Given the description of an element on the screen output the (x, y) to click on. 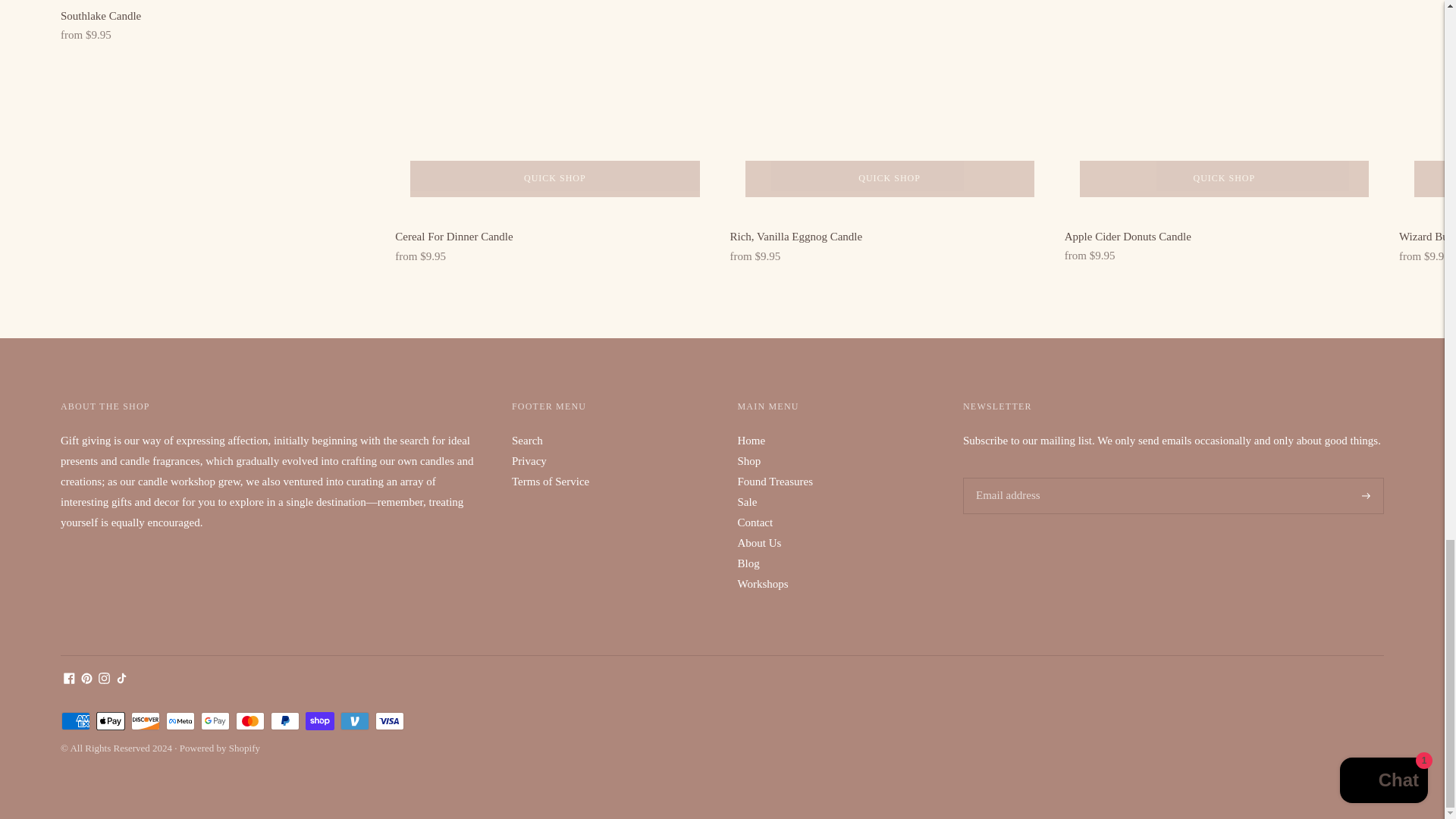
haus2hometx on Pinterest (87, 680)
haus2hometx on Instagram (104, 680)
haus2hometx on TikTok (122, 680)
haus2hometx on Facebook (69, 680)
